Given the description of an element on the screen output the (x, y) to click on. 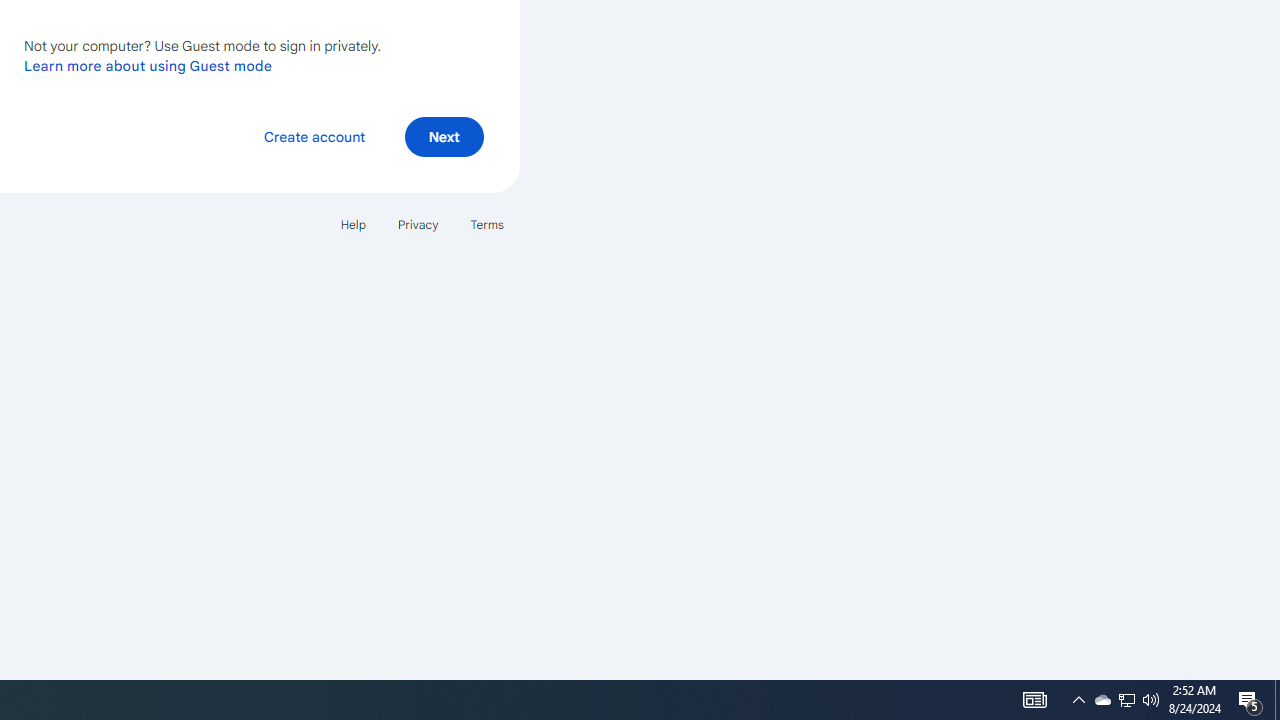
Create account (314, 135)
Learn more about using Guest mode (148, 65)
